Given the description of an element on the screen output the (x, y) to click on. 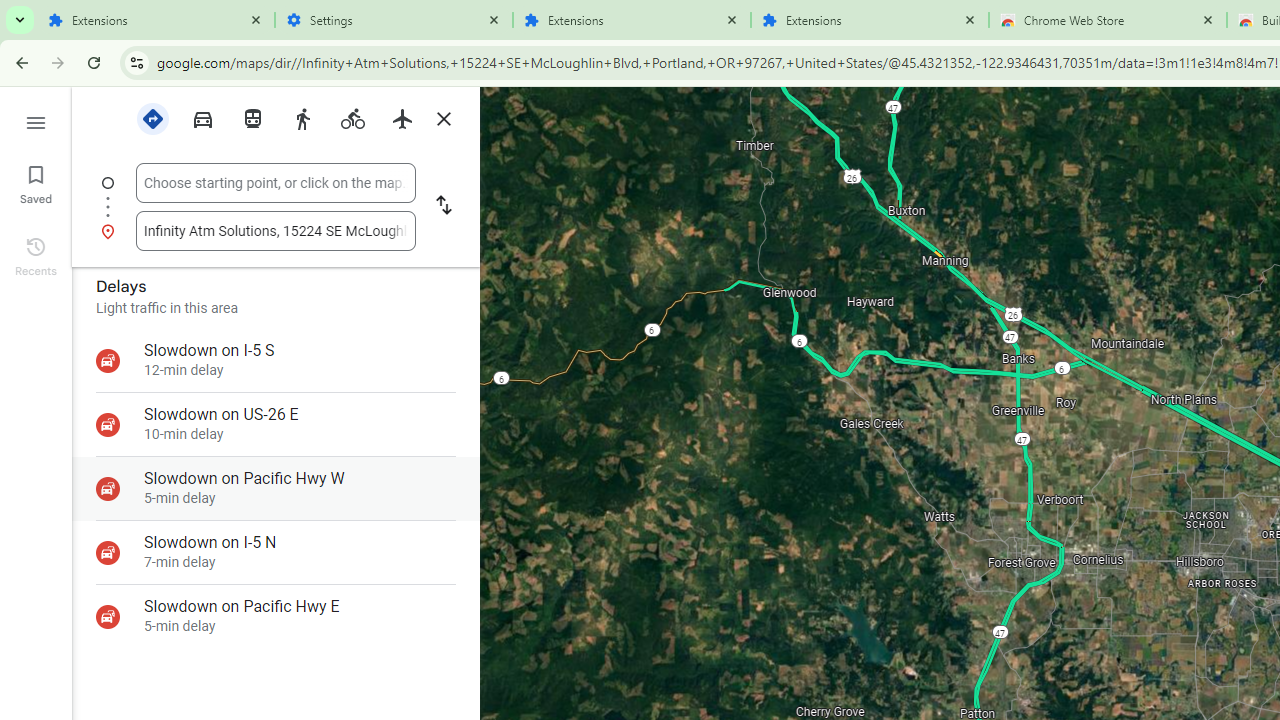
Recents (35, 254)
Reverse starting point and destination (444, 206)
Chrome Web Store (1108, 20)
AutomationID: sb_ifc51 (275, 230)
Close directions (443, 119)
Best travel modes (152, 119)
Settings (394, 20)
Extensions (632, 20)
Saved (35, 182)
Extensions (156, 20)
